Given the description of an element on the screen output the (x, y) to click on. 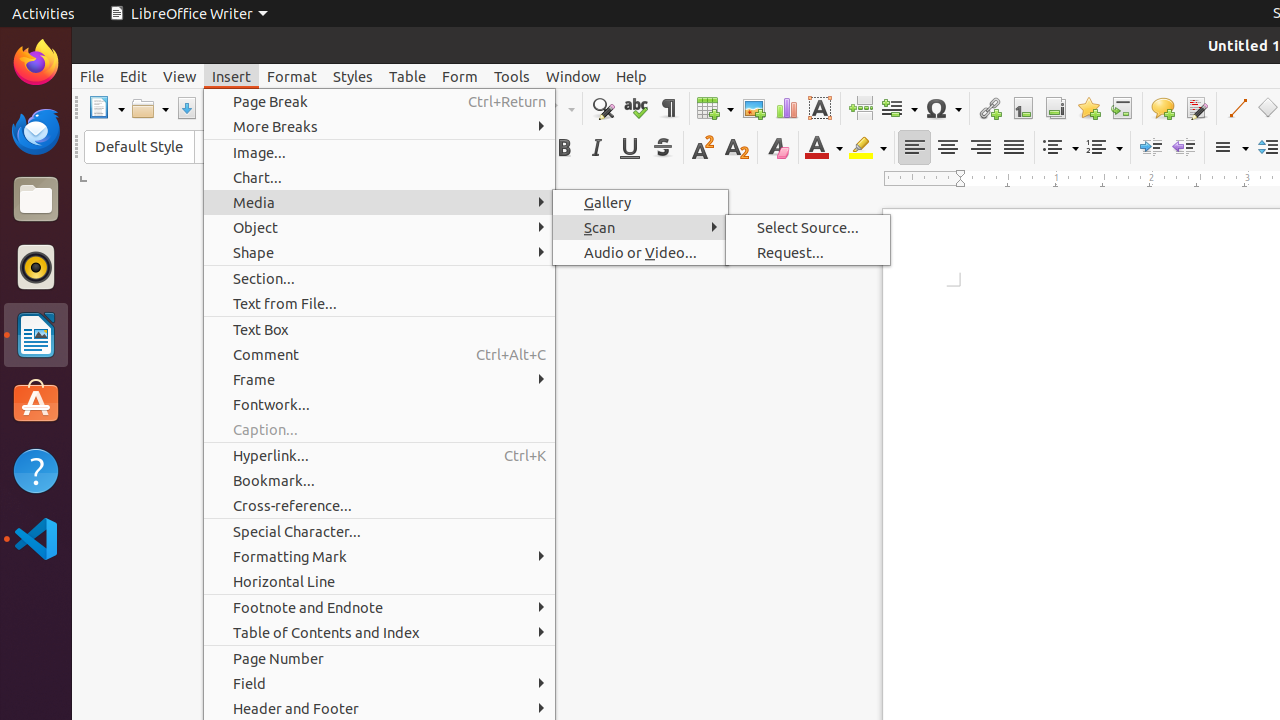
LibreOffice Writer Element type: menu (188, 13)
Footnote and Endnote Element type: menu (379, 607)
Bookmark... Element type: menu-item (379, 480)
Formatting Mark Element type: menu (379, 556)
Image... Element type: menu-item (379, 152)
